Given the description of an element on the screen output the (x, y) to click on. 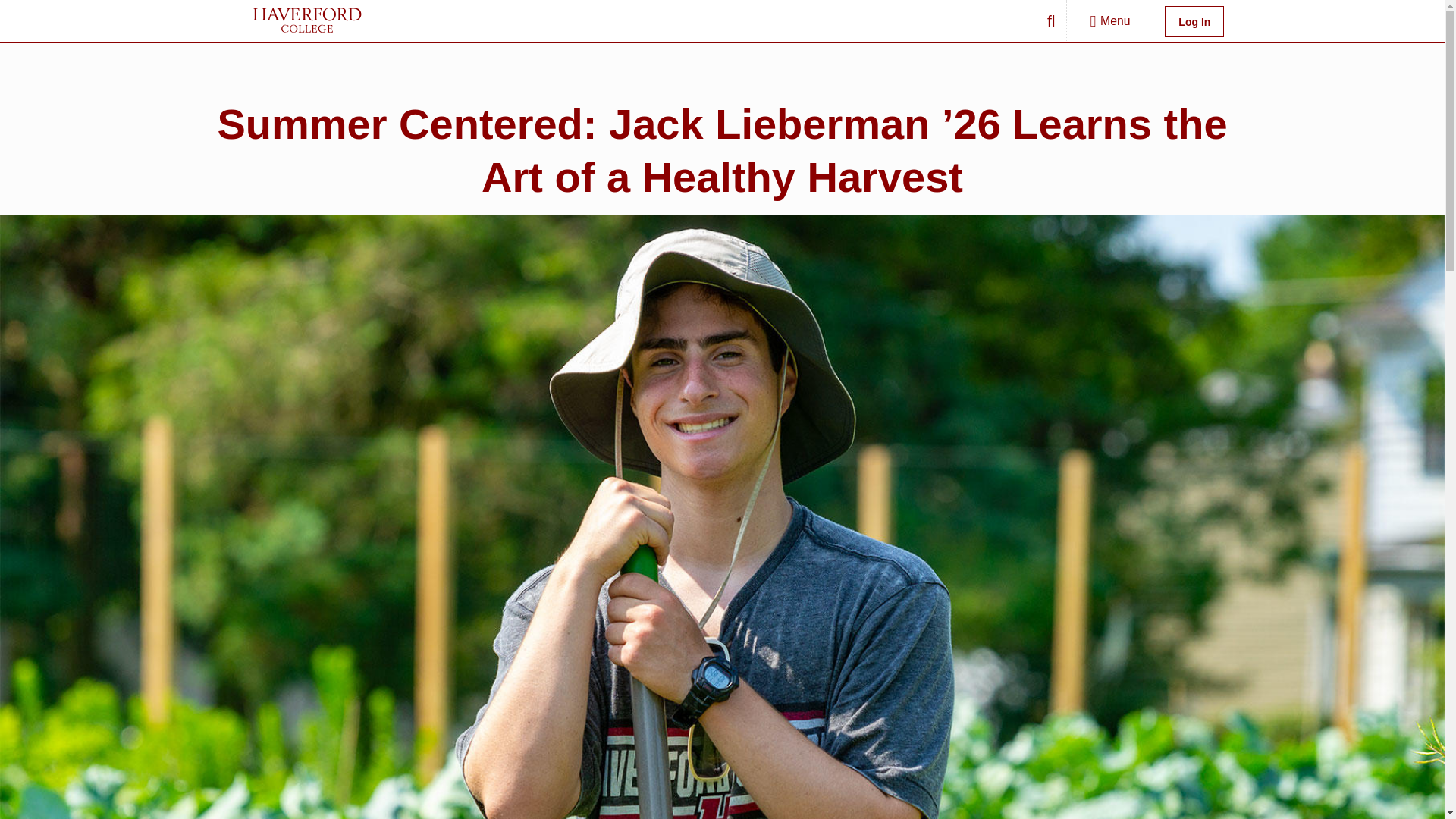
Menu (1110, 21)
Log In (1193, 20)
Haverford College Home (419, 19)
